Given the description of an element on the screen output the (x, y) to click on. 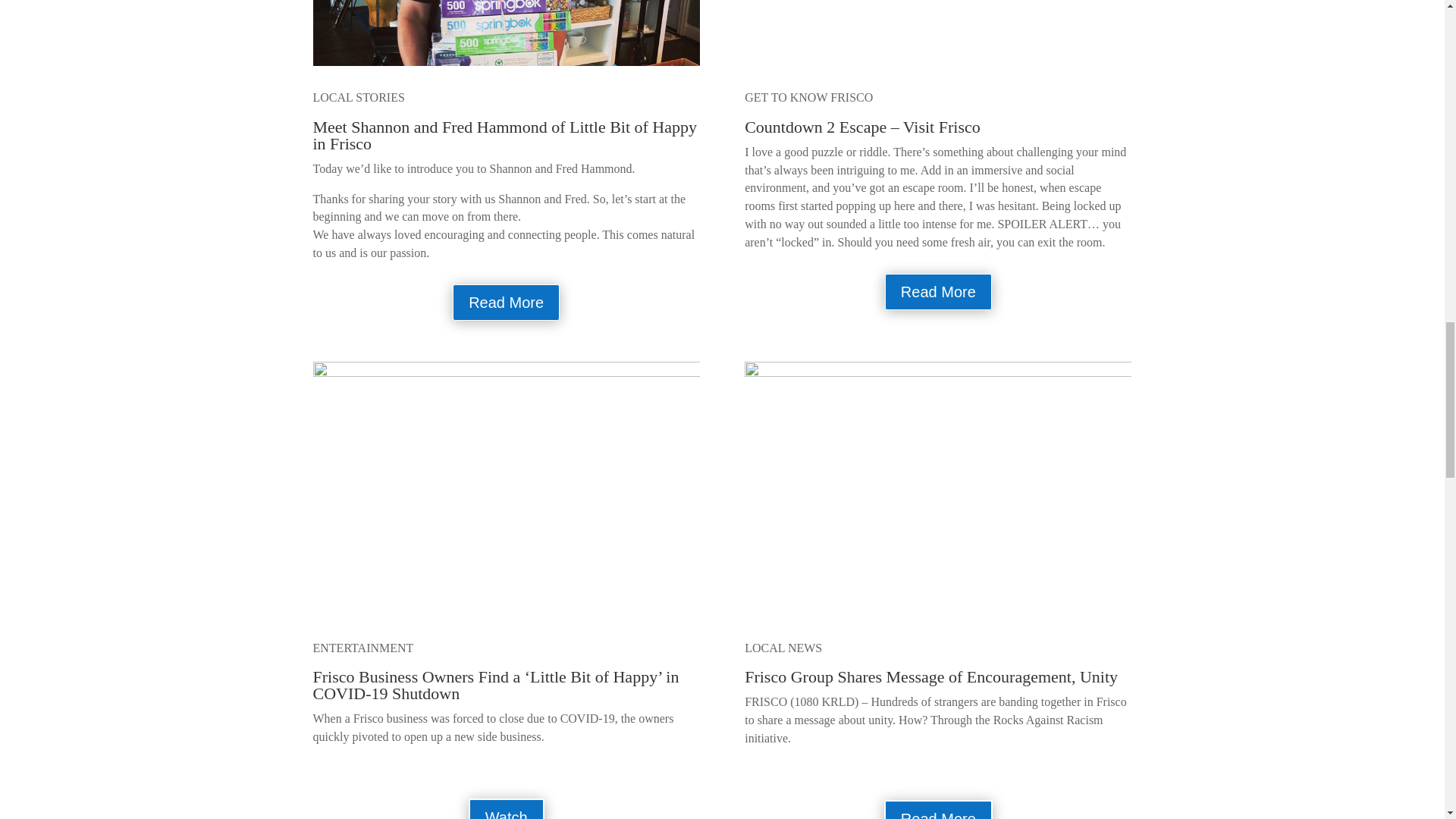
Read More (938, 291)
Watch (506, 808)
Read More (505, 302)
Read More (937, 809)
